Given the description of an element on the screen output the (x, y) to click on. 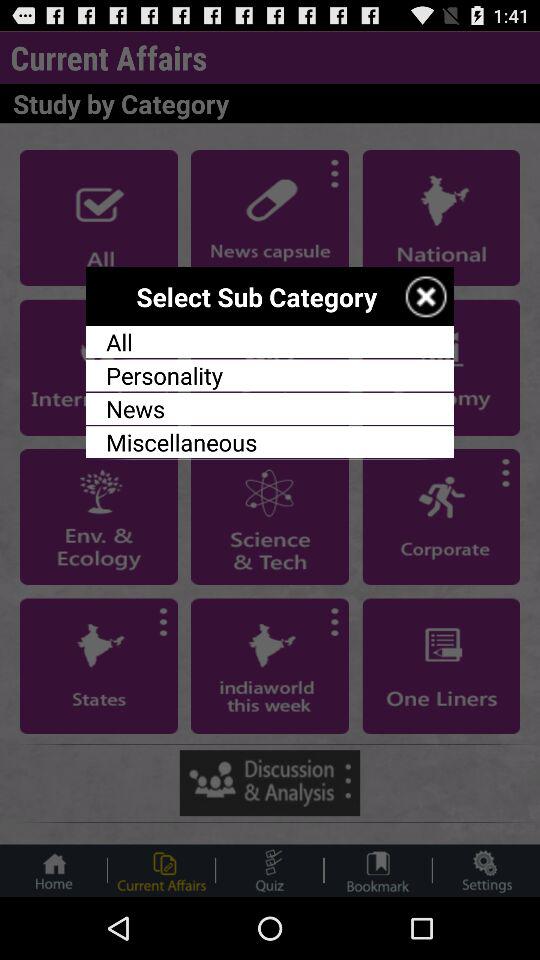
press item above the all app (425, 296)
